Given the description of an element on the screen output the (x, y) to click on. 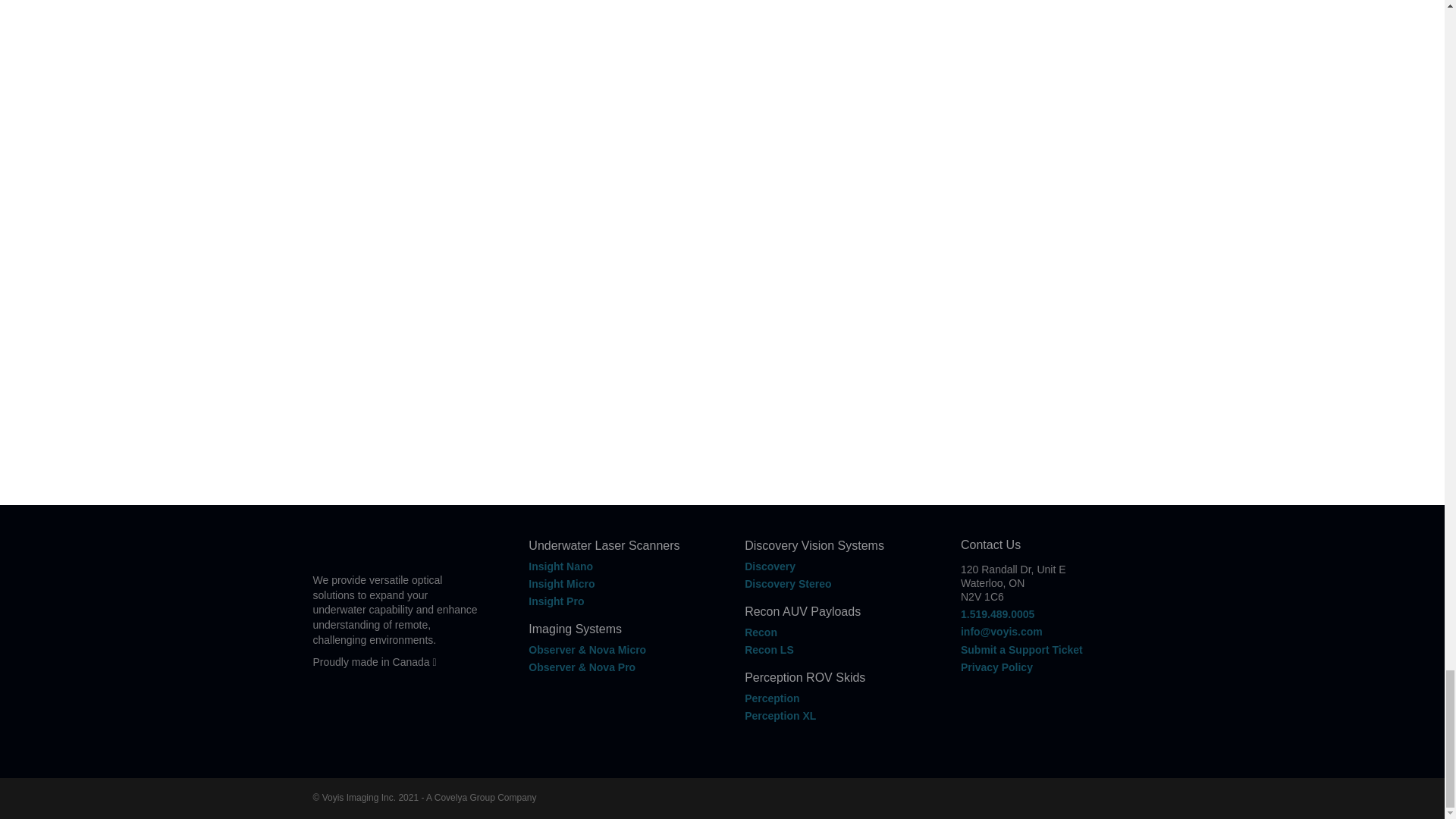
Voyis-Icon (320, 544)
